Given the description of an element on the screen output the (x, y) to click on. 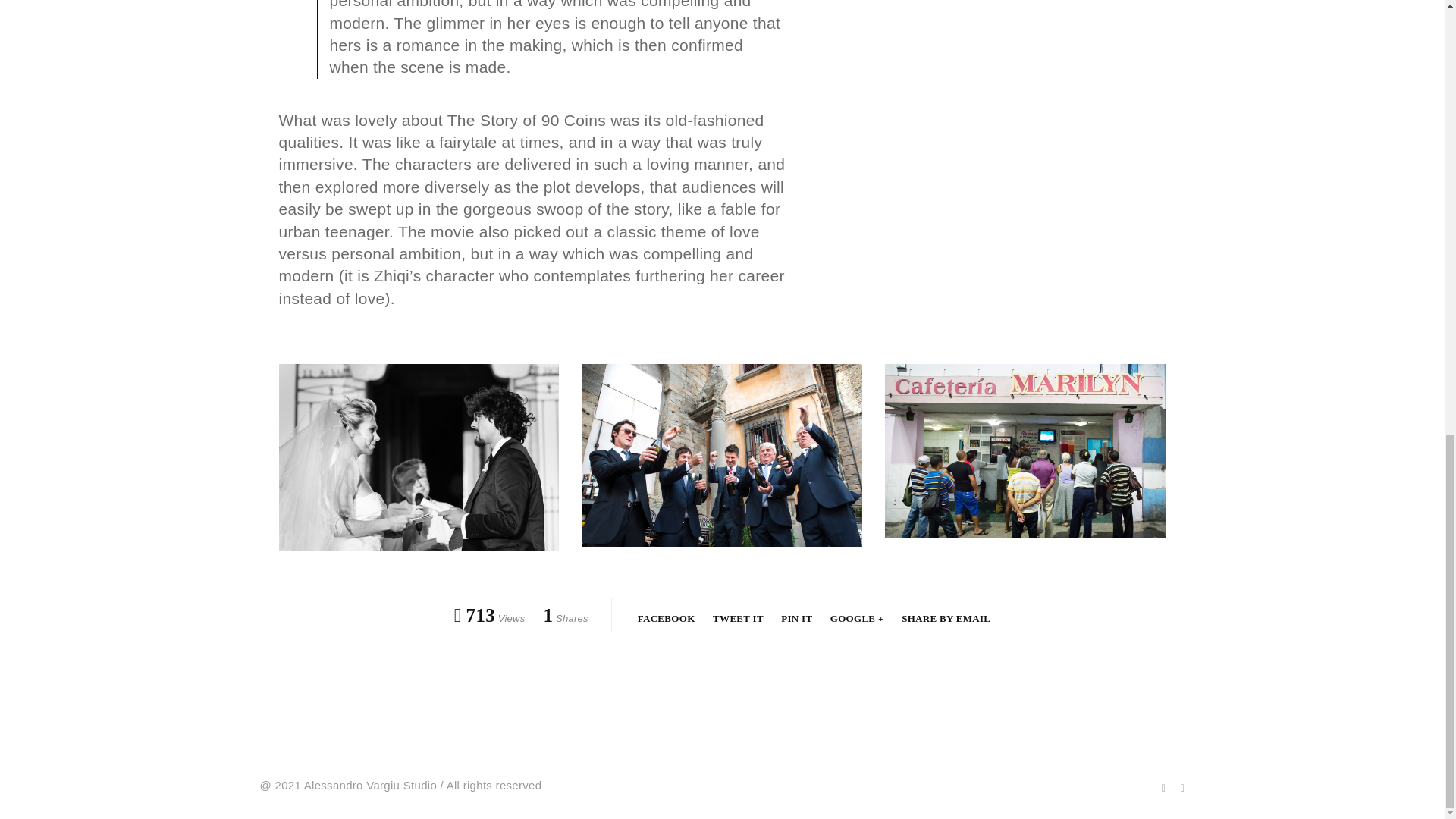
Share this article to GooglePlus (857, 618)
Santiago de Cuba 2013 (1024, 450)
Alessandro Borghese e Wilma Olivero, Telese, 2009 (418, 456)
Share this article to Facebook (667, 618)
SHARE BY EMAIL (945, 618)
Share by email (945, 618)
Share this article to Pinterest (797, 618)
PIN IT (797, 618)
Share this article to Twitter (738, 618)
FACEBOOK (667, 618)
TWEET IT (738, 618)
